Given the description of an element on the screen output the (x, y) to click on. 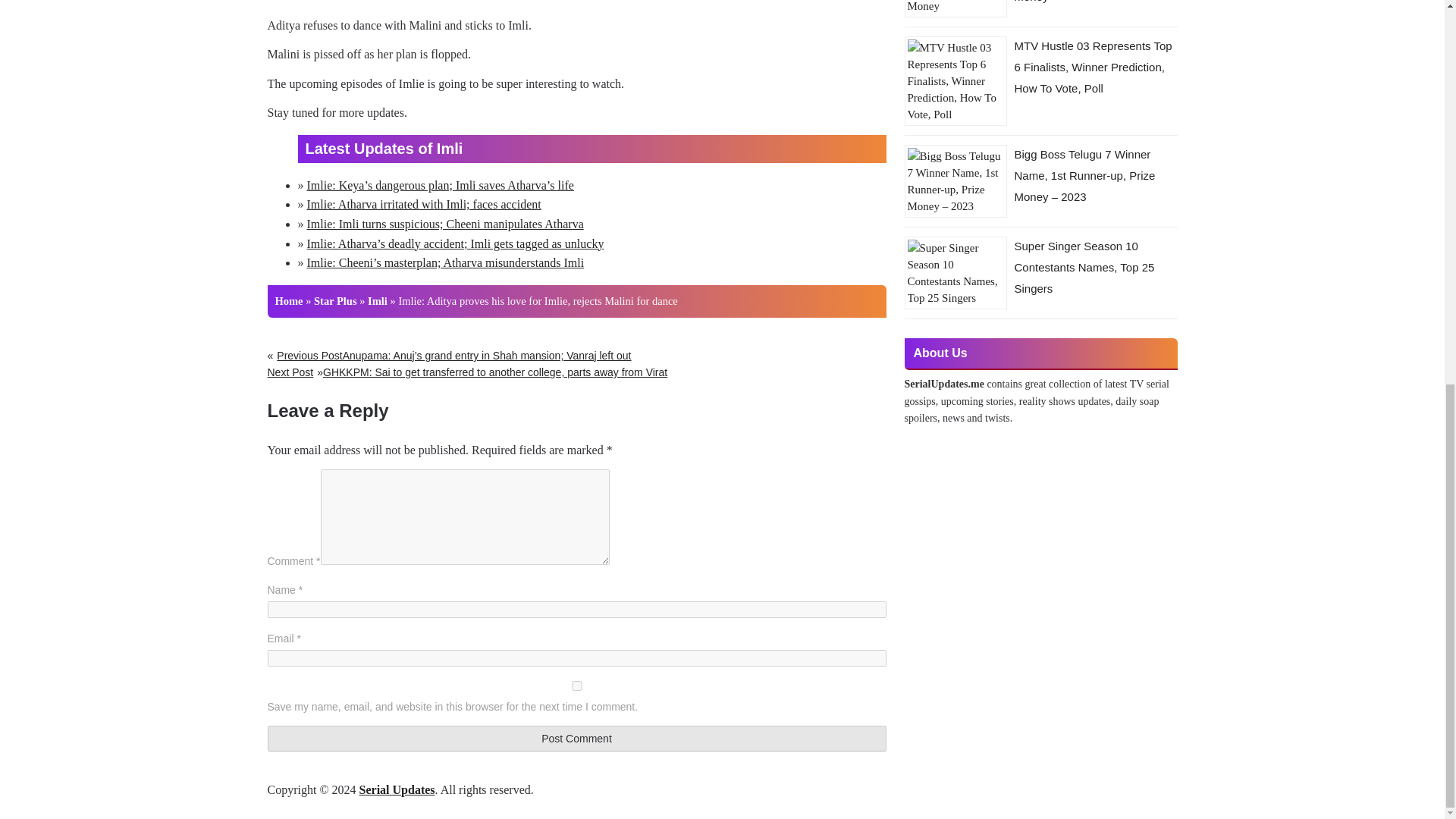
Imlie: Imli turns suspicious; Cheeni manipulates Atharva (444, 223)
DMCA.com Protection Status (345, 809)
Imli (377, 300)
Serial Updates (397, 789)
Imlie: Atharva irritated with Imli; faces accident (422, 204)
Post Comment (575, 738)
Home (288, 300)
Imlie: Imli turns suspicious; Cheeni manipulates Atharva (444, 223)
Post Comment (575, 738)
Star Plus (335, 300)
Imlie: Atharva irritated with Imli; faces accident (422, 204)
MTV Hustle 03 Represents Winner, 1st Runner-up, Prize Money (1087, 2)
yes (575, 685)
